Given the description of an element on the screen output the (x, y) to click on. 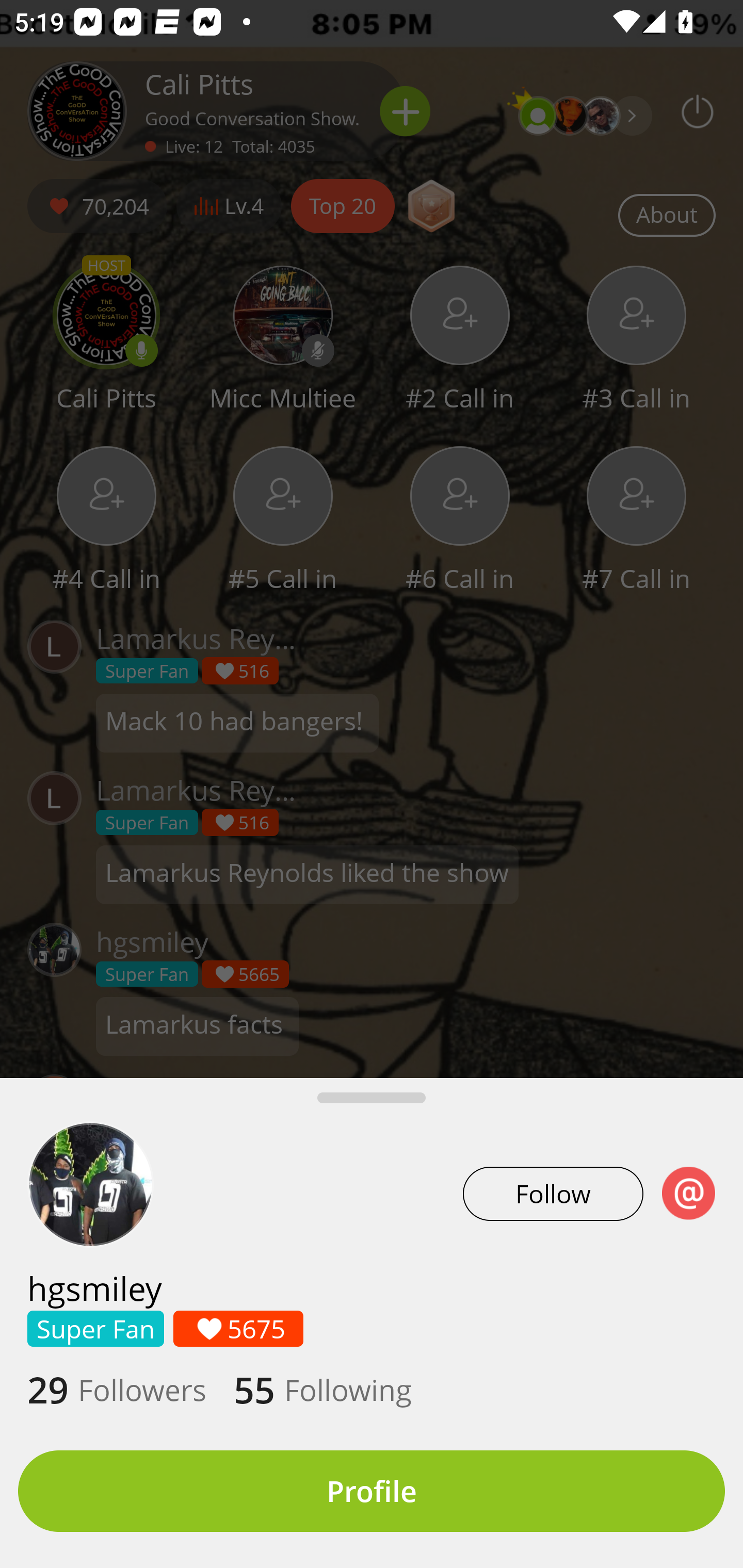
Follow (552, 1193)
Profile (371, 1490)
